Given the description of an element on the screen output the (x, y) to click on. 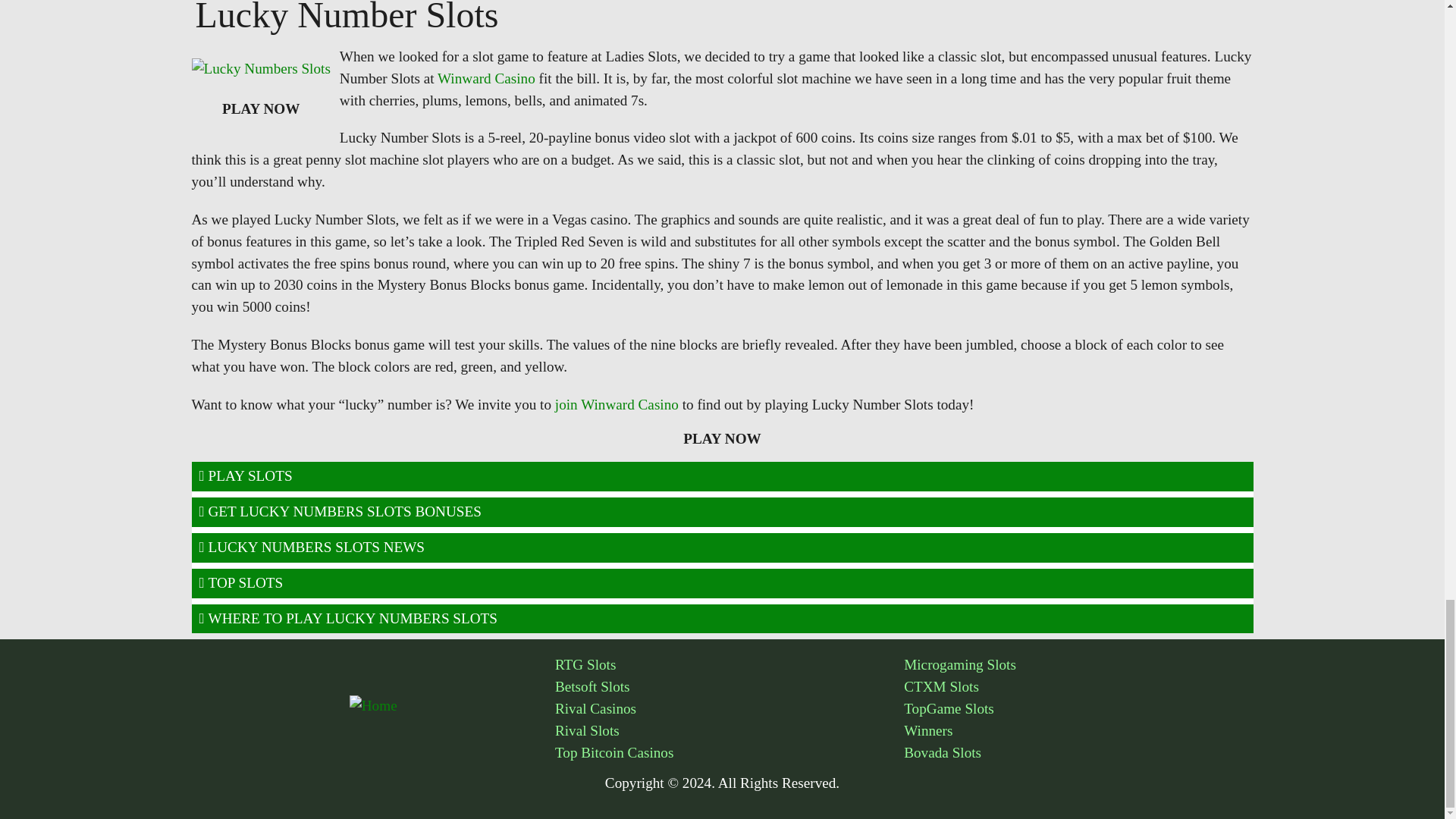
Winward Casino (486, 78)
Microgaming Slots (1078, 665)
CTXM Slots (1078, 687)
Betsoft Slots (729, 687)
join Winward Casino (616, 404)
Winners (1078, 731)
PLAY NOW (260, 109)
RTG Slots (729, 665)
Rival Casinos (729, 709)
TopGame Slots (1078, 709)
